Given the description of an element on the screen output the (x, y) to click on. 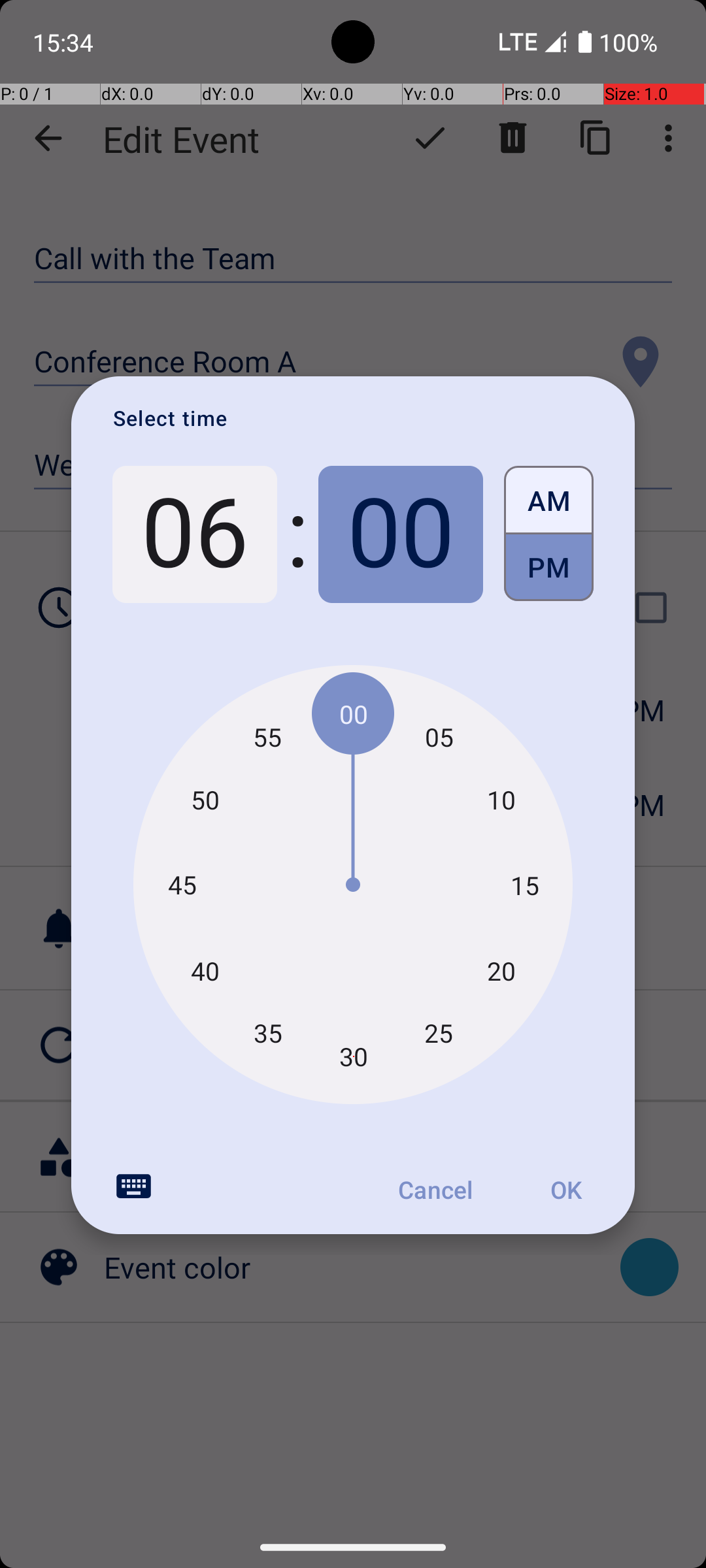
06 Element type: android.view.View (194, 534)
Select AM or PM Element type: android.widget.LinearLayout (548, 534)
